Given the description of an element on the screen output the (x, y) to click on. 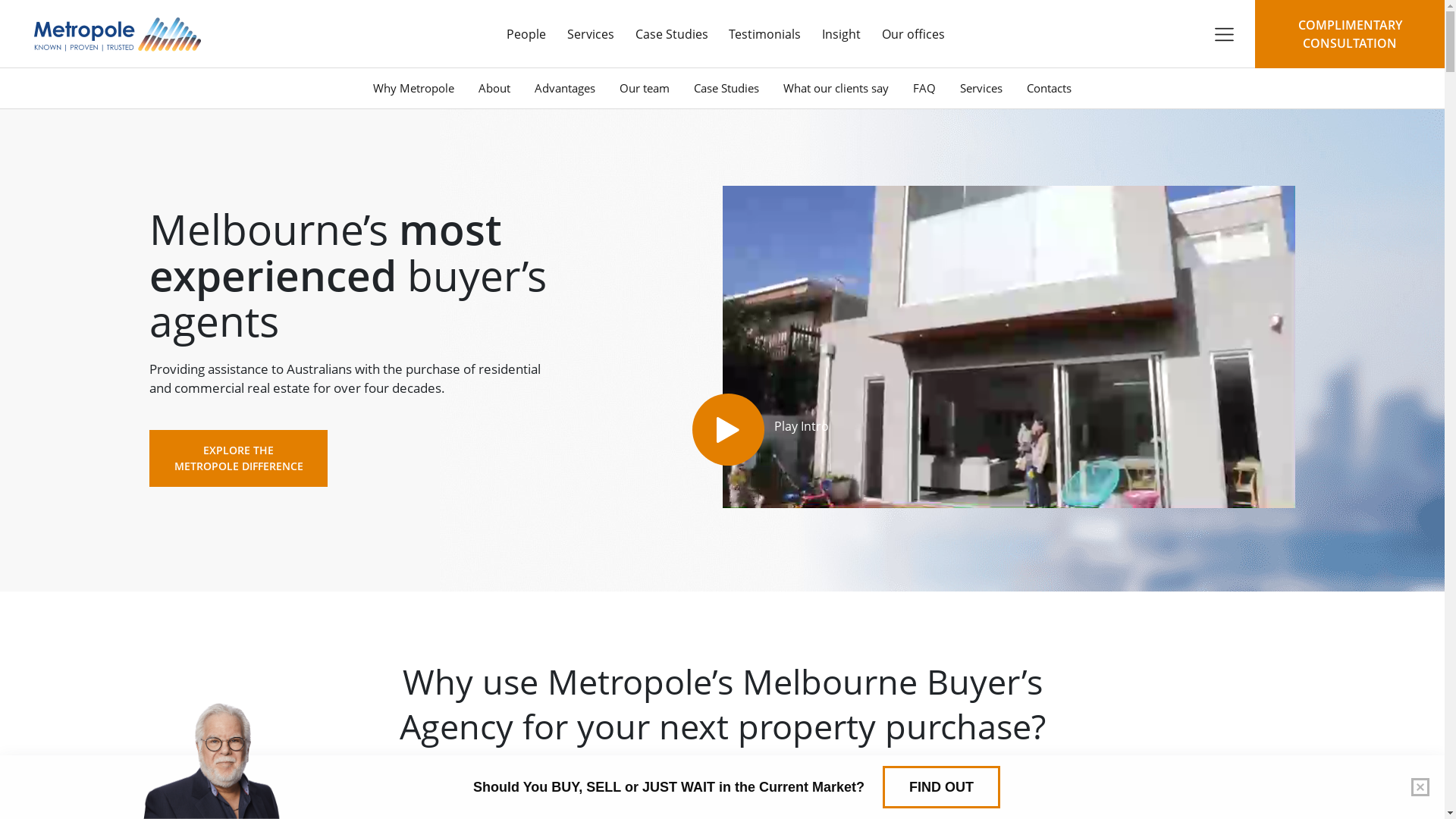
Contacts Element type: text (1048, 88)
Our team Element type: text (644, 88)
What our clients say Element type: text (835, 88)
Services Element type: text (980, 88)
Advantages Element type: text (564, 88)
Why Metropole Element type: text (413, 88)
Case Studies Element type: text (726, 88)
Our offices Element type: text (912, 34)
Insight Element type: text (840, 34)
People Element type: text (526, 34)
Services Element type: text (590, 34)
EXPLORE THE
METROPOLE DIFFERENCE Element type: text (238, 457)
Testimonials Element type: text (764, 34)
About Element type: text (494, 88)
COMPLIMENTARY
CONSULTATION Element type: text (1349, 34)
Play Intro Element type: text (727, 429)
FAQ Element type: text (923, 88)
Case Studies Element type: text (671, 34)
